Given the description of an element on the screen output the (x, y) to click on. 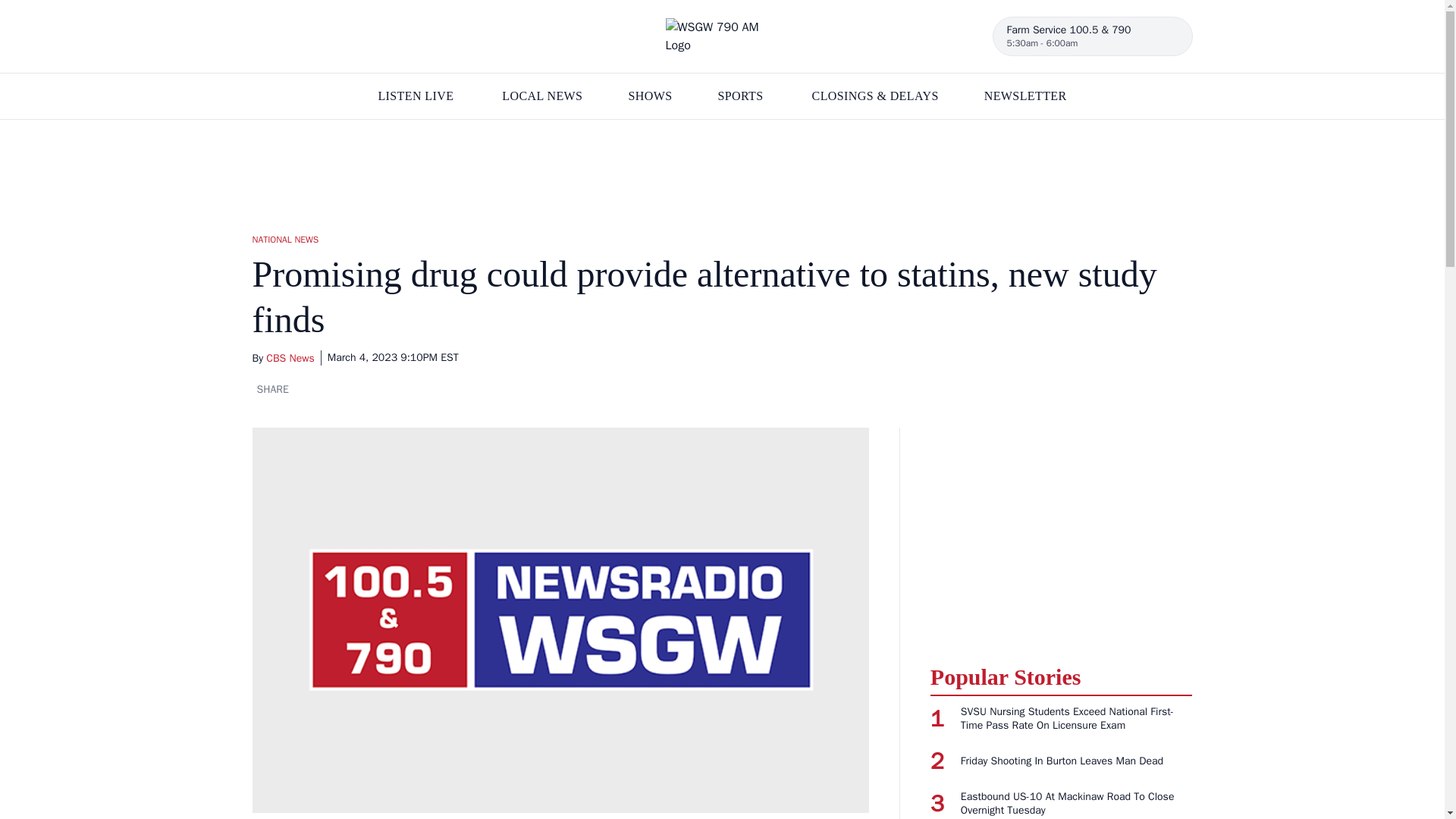
3rd party ad content (1060, 537)
3rd party ad content (721, 169)
